Given the description of an element on the screen output the (x, y) to click on. 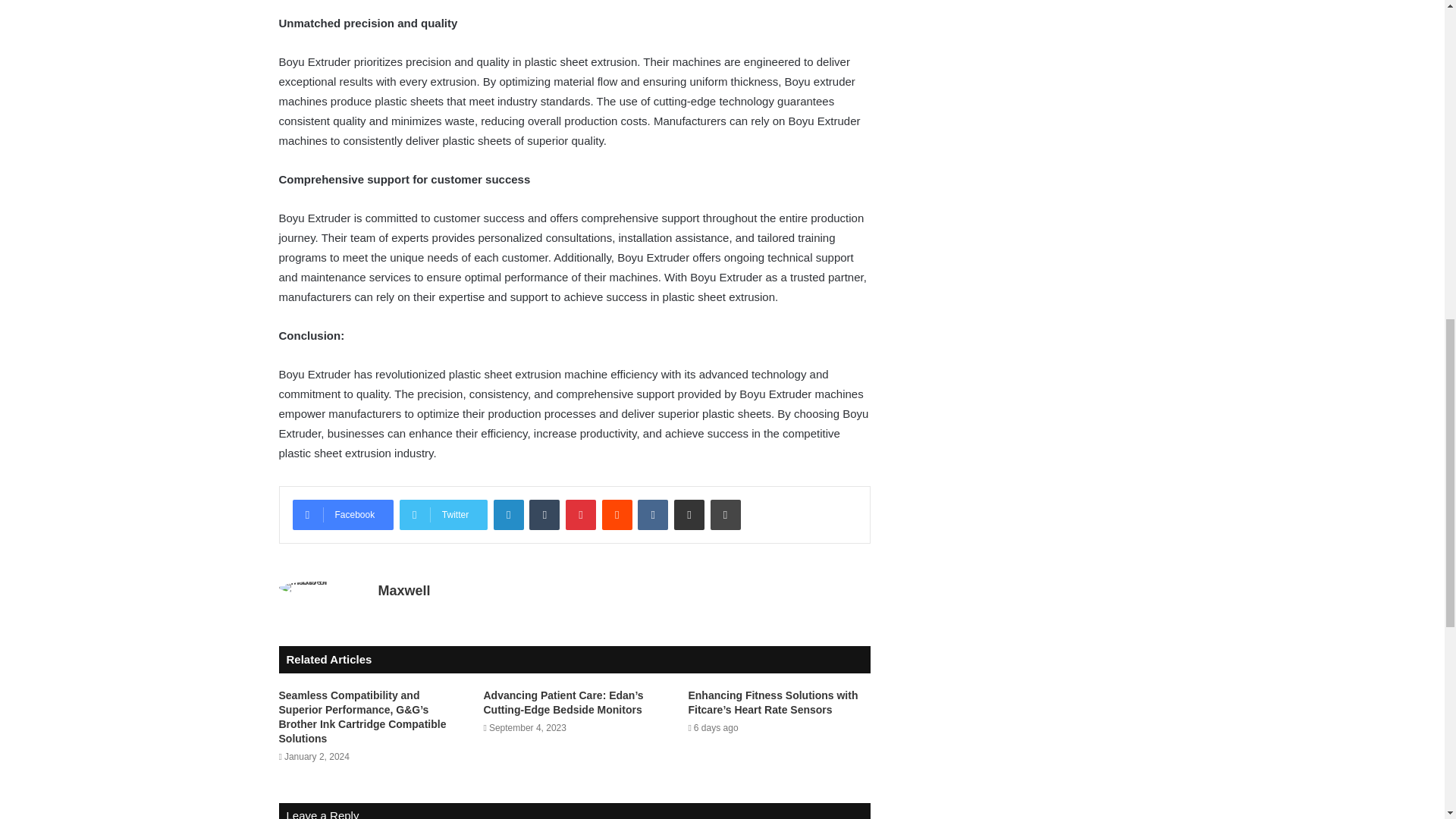
Twitter (442, 514)
Share via Email (689, 514)
LinkedIn (508, 514)
Pinterest (580, 514)
Maxwell (403, 590)
Print (725, 514)
Twitter (442, 514)
VKontakte (652, 514)
Print (725, 514)
LinkedIn (508, 514)
